Given the description of an element on the screen output the (x, y) to click on. 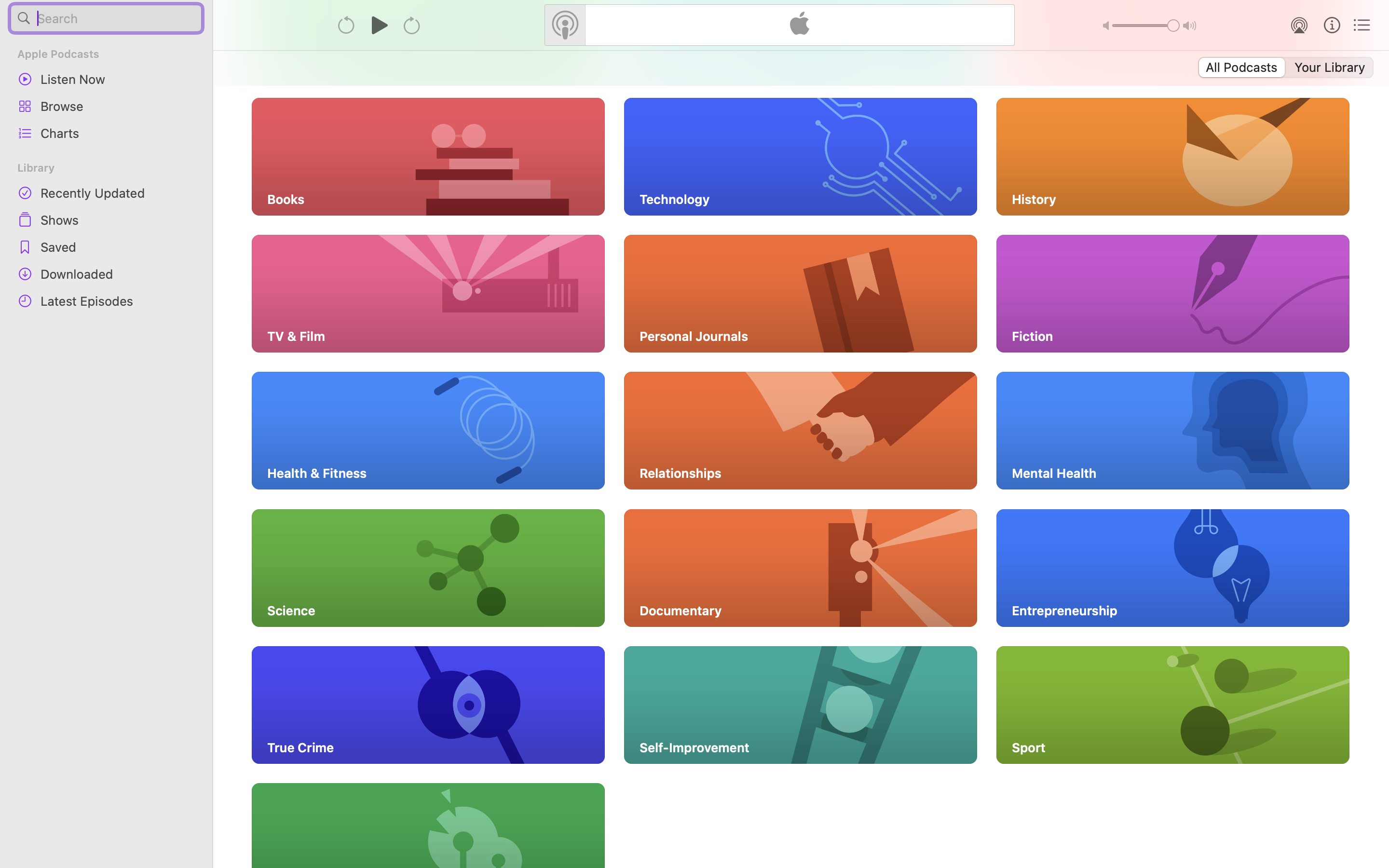
1.0 Element type: AXSlider (1145, 25)
0 Element type: AXRadioButton (1330, 67)
1 Element type: AXRadioButton (1240, 67)
